Given the description of an element on the screen output the (x, y) to click on. 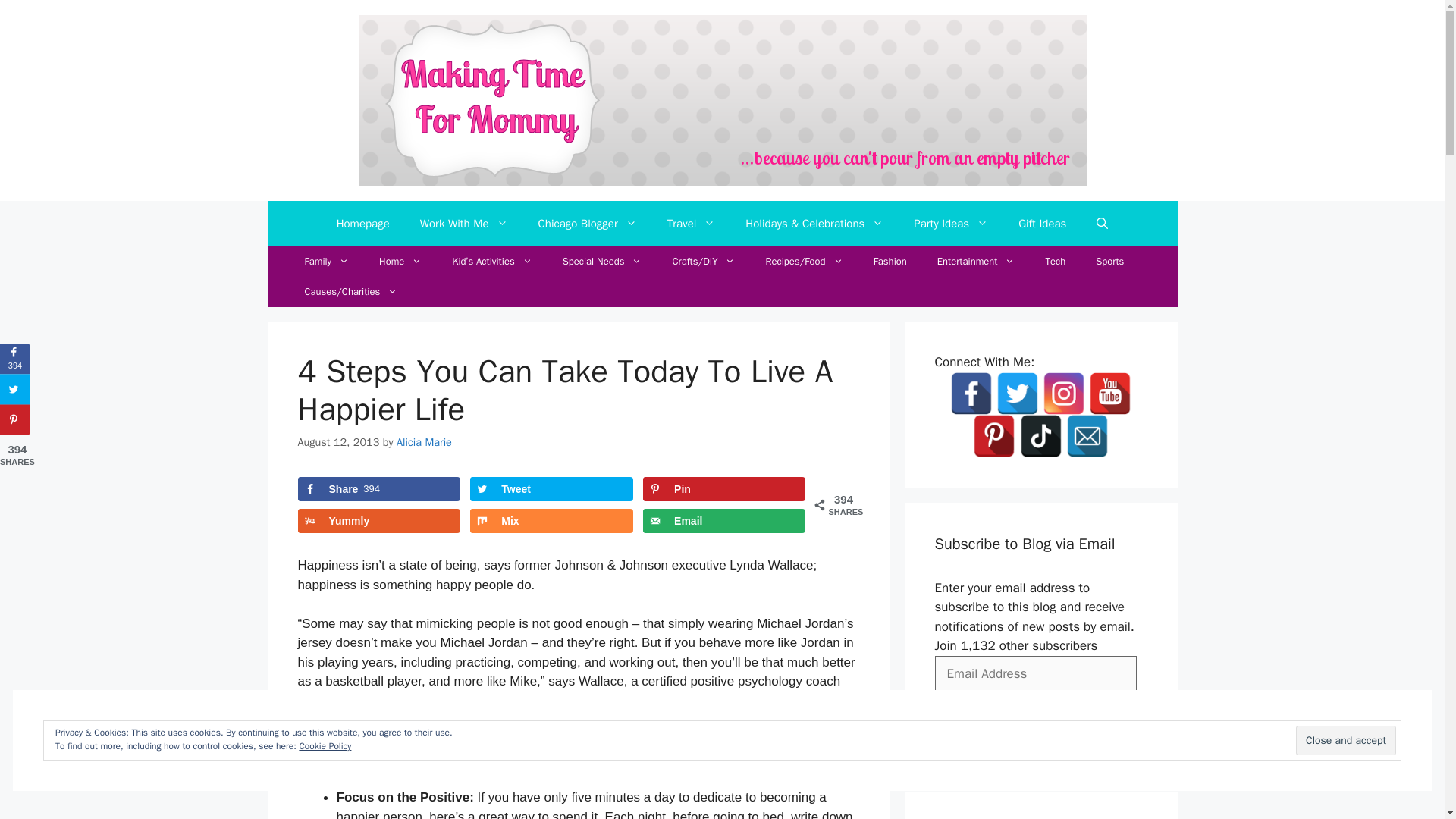
Making Time for Mommy (722, 100)
Chicago Blogger (587, 223)
Close and accept (1345, 740)
View all posts by Alicia Marie (423, 441)
Share on Twitter (550, 488)
Work With Me (463, 223)
Homepage (362, 223)
Share on Yummly (378, 520)
Share on Facebook (378, 488)
Making Time for Mommy (722, 99)
